Given the description of an element on the screen output the (x, y) to click on. 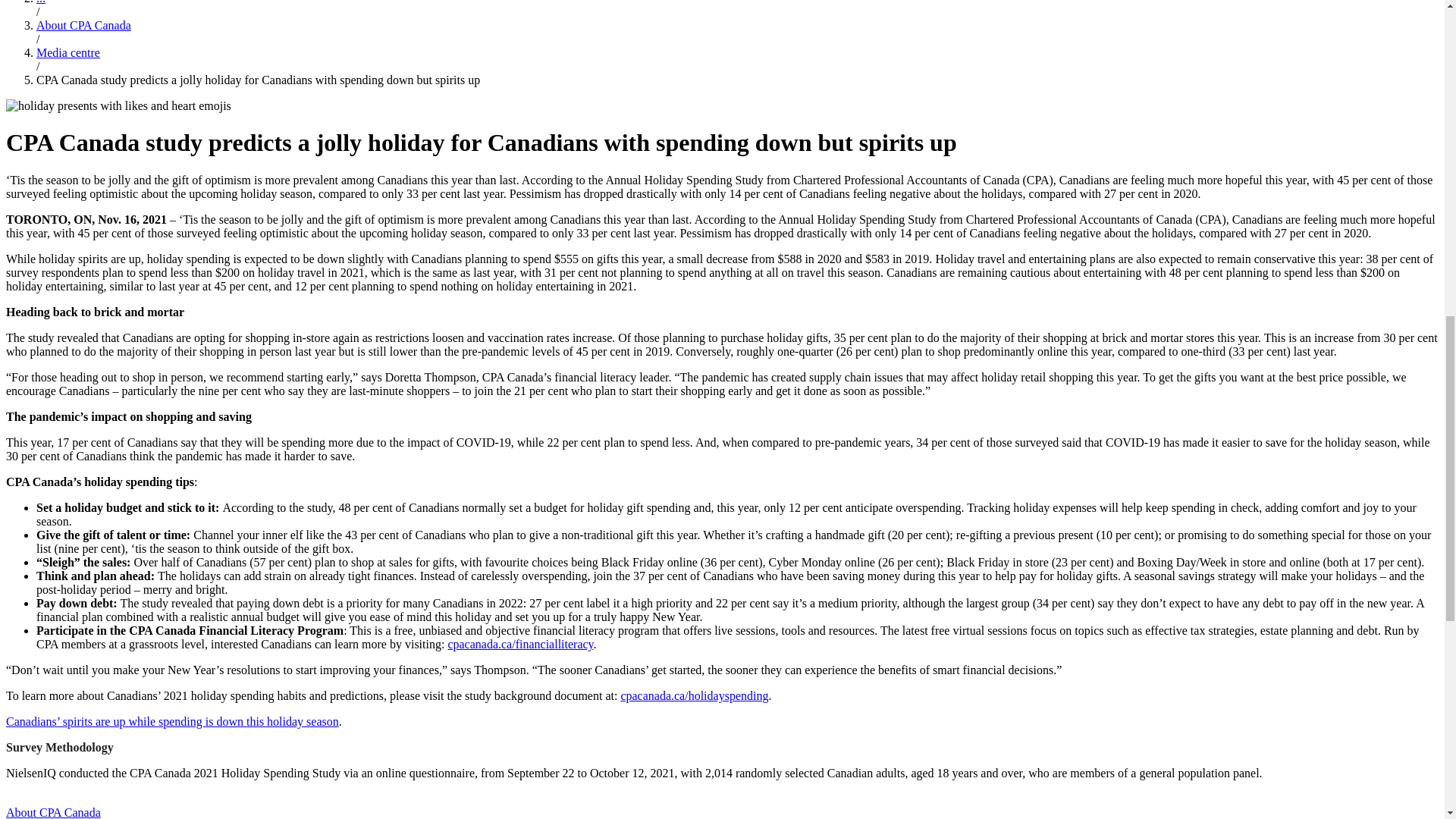
... (40, 2)
Media centre (68, 51)
About CPA Canada (83, 24)
